Given the description of an element on the screen output the (x, y) to click on. 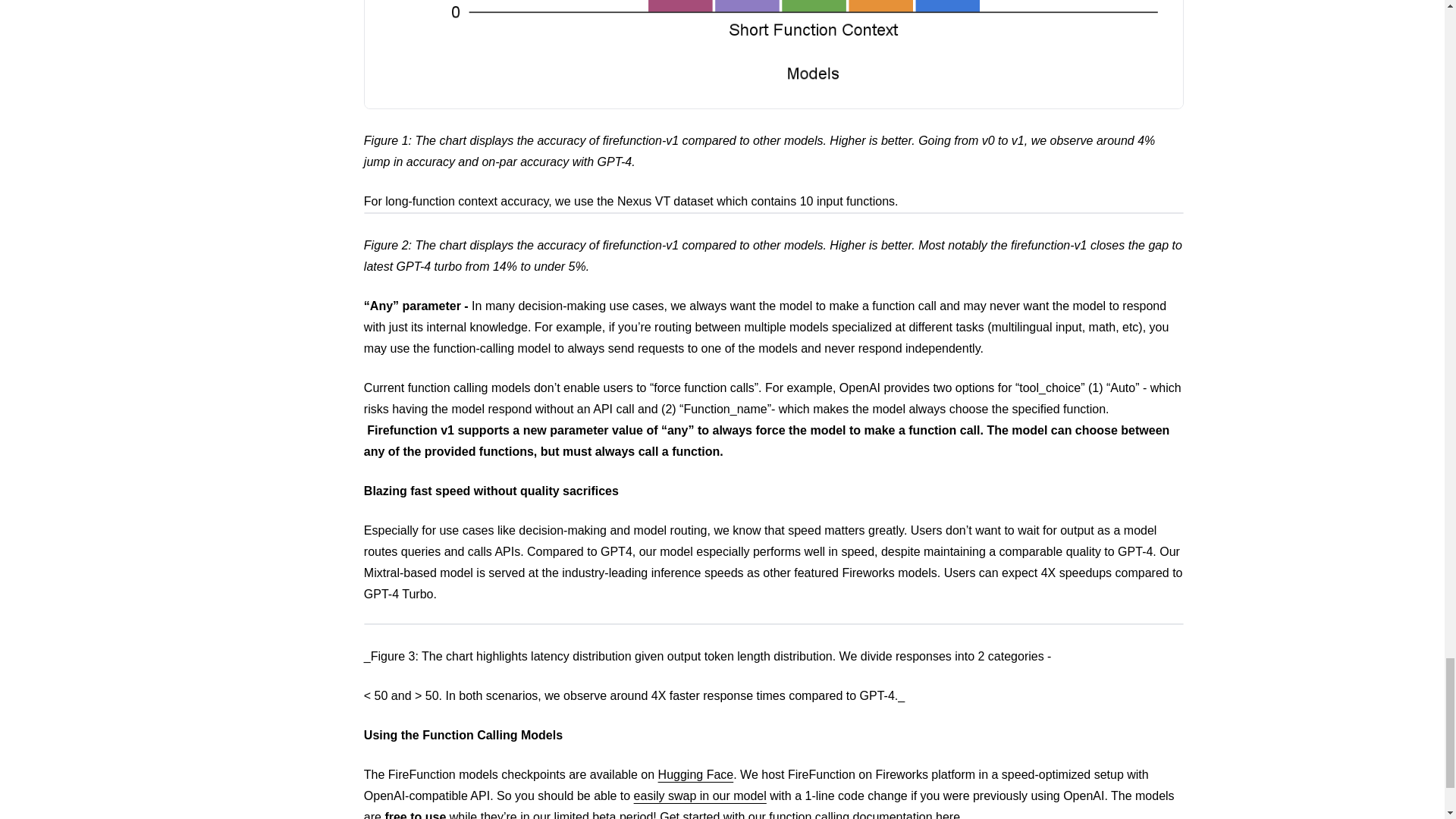
easily swap in our model (700, 795)
here (947, 814)
Hugging Face (695, 774)
